Given the description of an element on the screen output the (x, y) to click on. 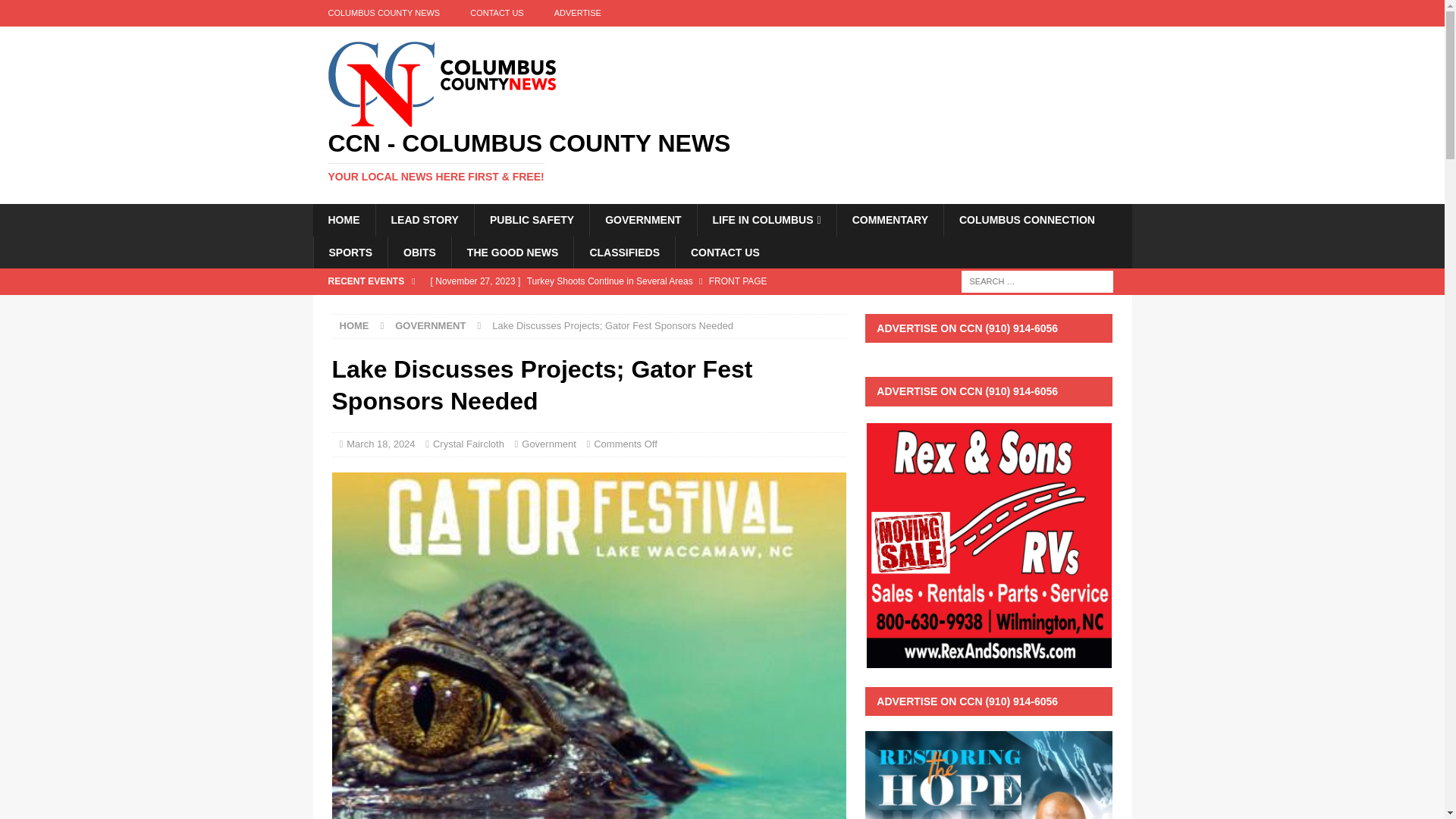
COLUMBUS CONNECTION (1026, 219)
HOME (343, 219)
COLUMBUS COUNTY NEWS (383, 13)
CONTACT US (496, 13)
GOVERNMENT (642, 219)
ADVERTISE (576, 13)
PUBLIC SAFETY (531, 219)
2023 Trick or Treat Guide (633, 307)
CCN - Columbus County News (721, 156)
LEAD STORY (423, 219)
LIFE IN COLUMBUS (766, 219)
Turkey Shoots Continue in Several Areas (633, 281)
COMMENTARY (889, 219)
